Given the description of an element on the screen output the (x, y) to click on. 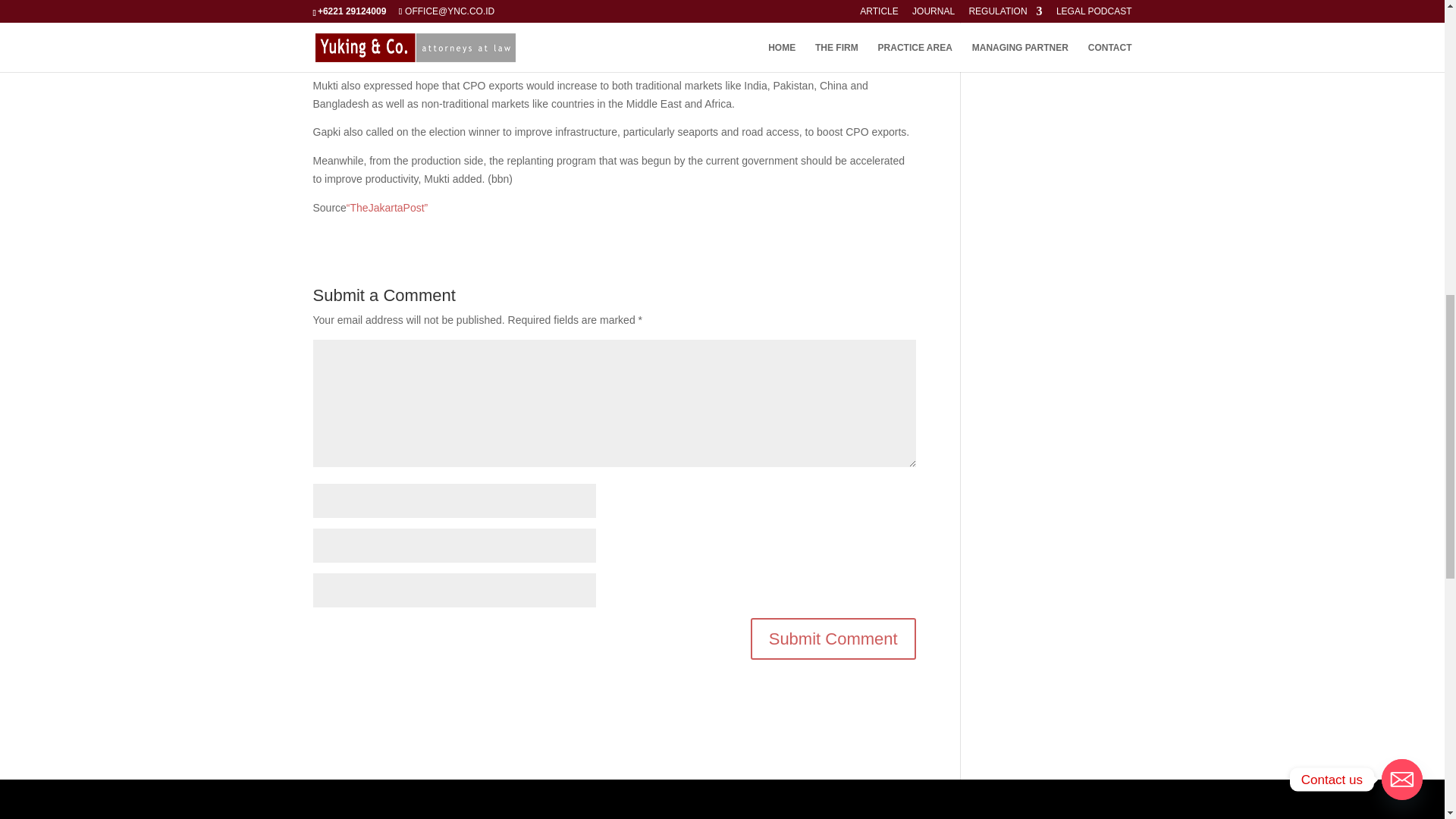
Submit Comment (833, 639)
Submit Comment (833, 639)
